Given the description of an element on the screen output the (x, y) to click on. 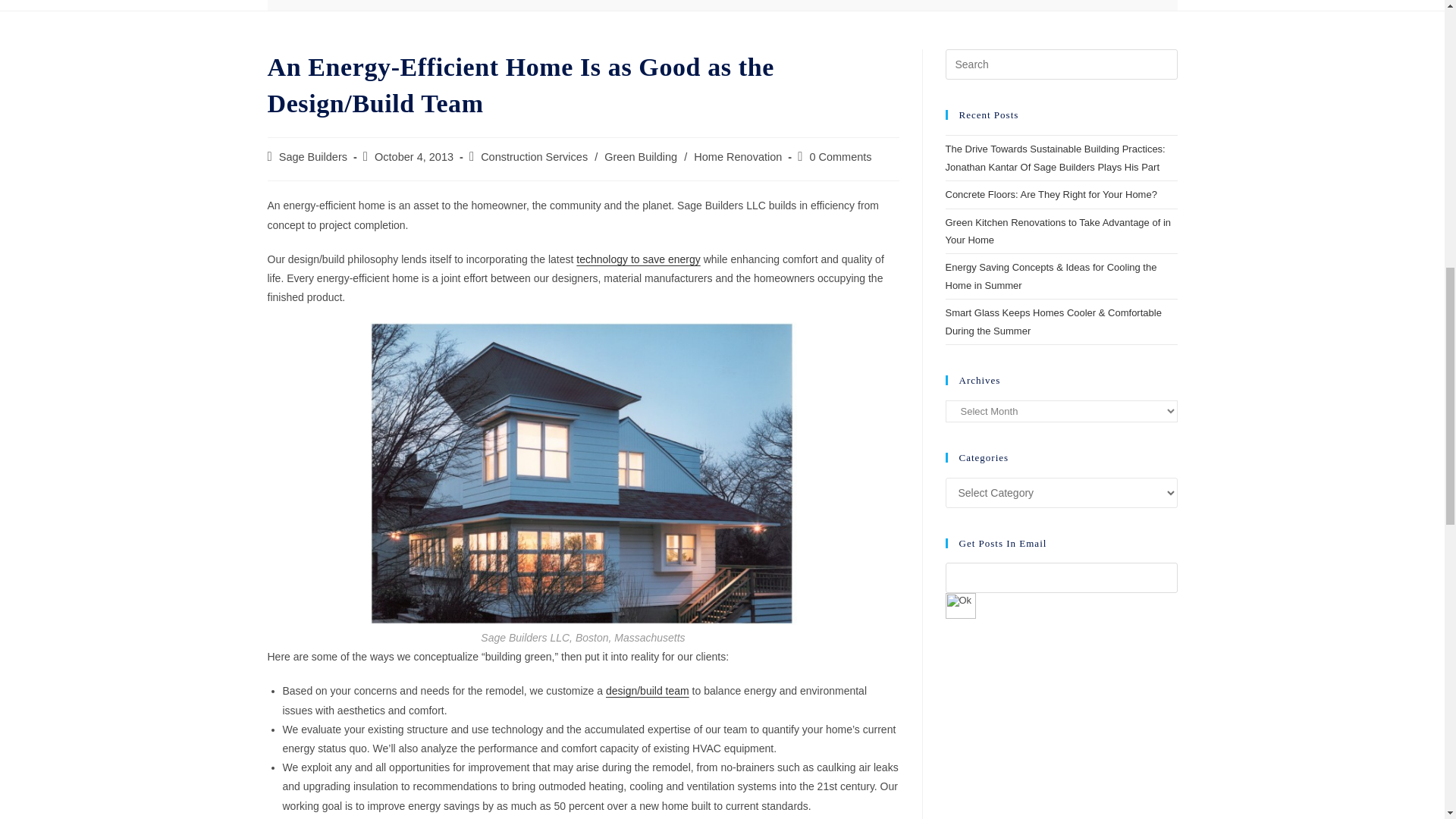
Ok (959, 605)
Posts by Sage Builders (313, 156)
